Given the description of an element on the screen output the (x, y) to click on. 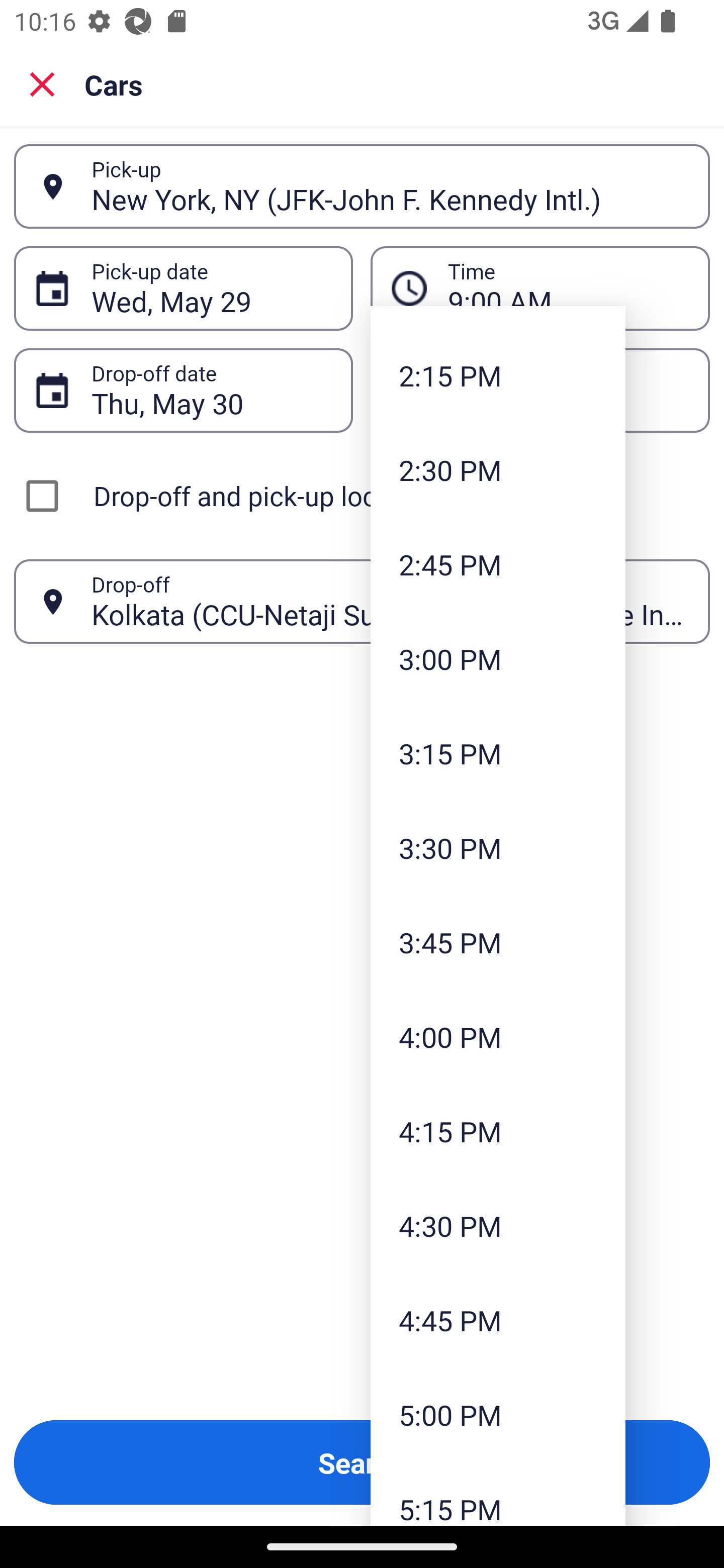
2:15 PM (497, 375)
2:30 PM (497, 470)
2:45 PM (497, 564)
3:00 PM (497, 658)
3:15 PM (497, 753)
3:30 PM (497, 848)
3:45 PM (497, 942)
4:00 PM (497, 1036)
4:15 PM (497, 1131)
4:30 PM (497, 1226)
4:45 PM (497, 1320)
5:00 PM (497, 1414)
5:15 PM (497, 1493)
